Given the description of an element on the screen output the (x, y) to click on. 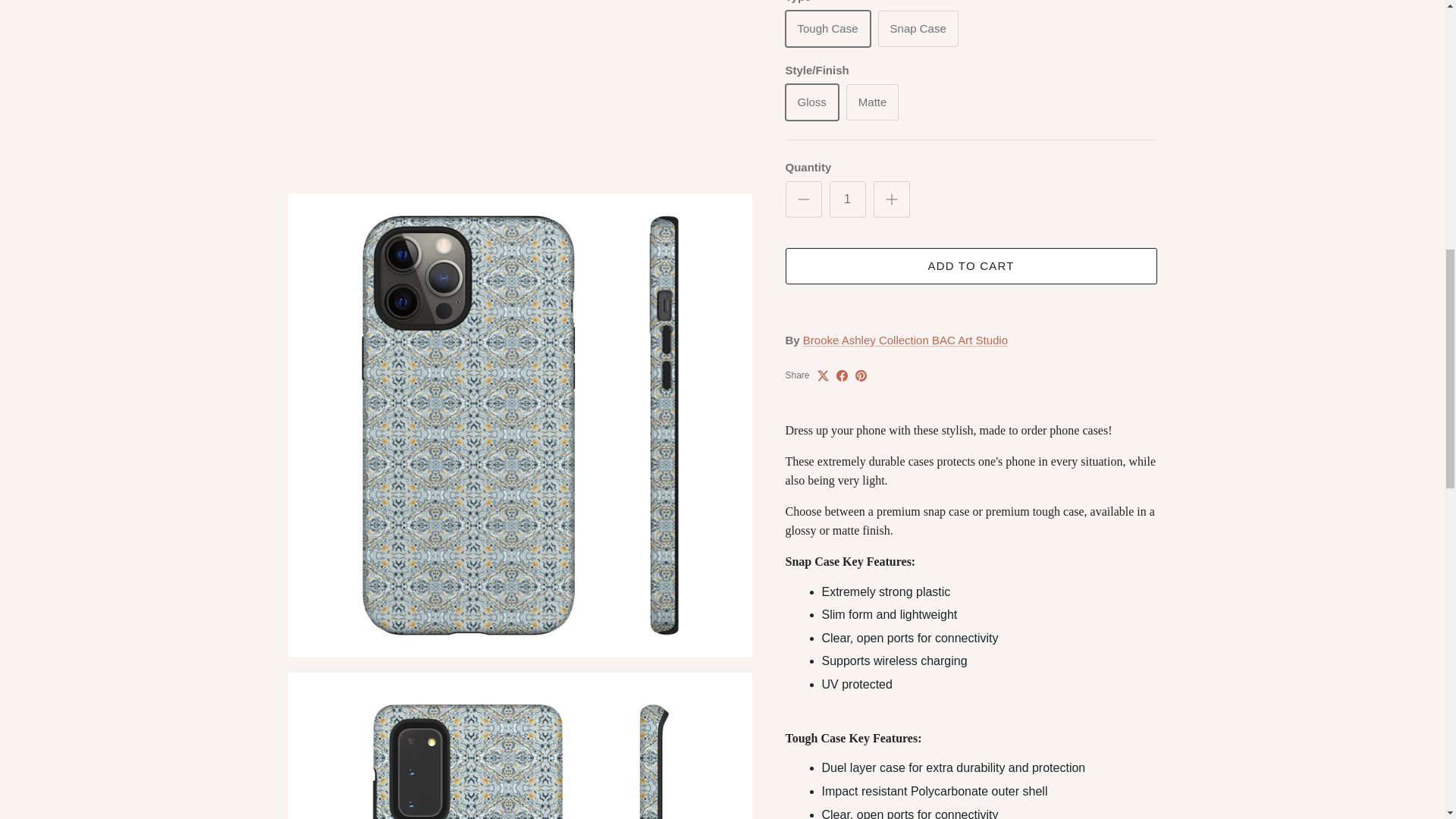
1 (847, 161)
Share on Facebook (841, 337)
Tweet on X (822, 337)
Pin on Pinterest (861, 337)
